Given the description of an element on the screen output the (x, y) to click on. 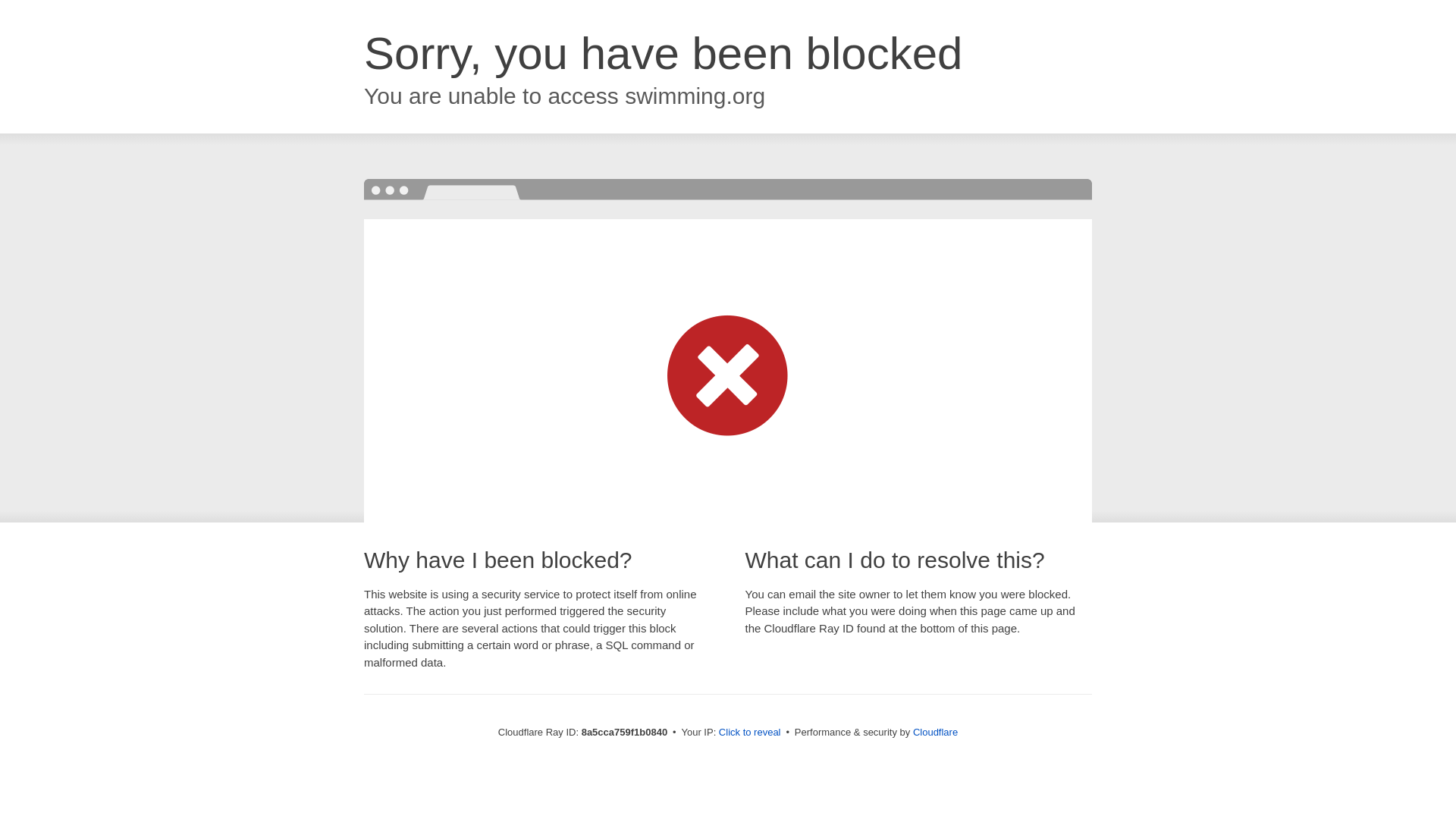
Cloudflare (935, 731)
Click to reveal (749, 732)
